Given the description of an element on the screen output the (x, y) to click on. 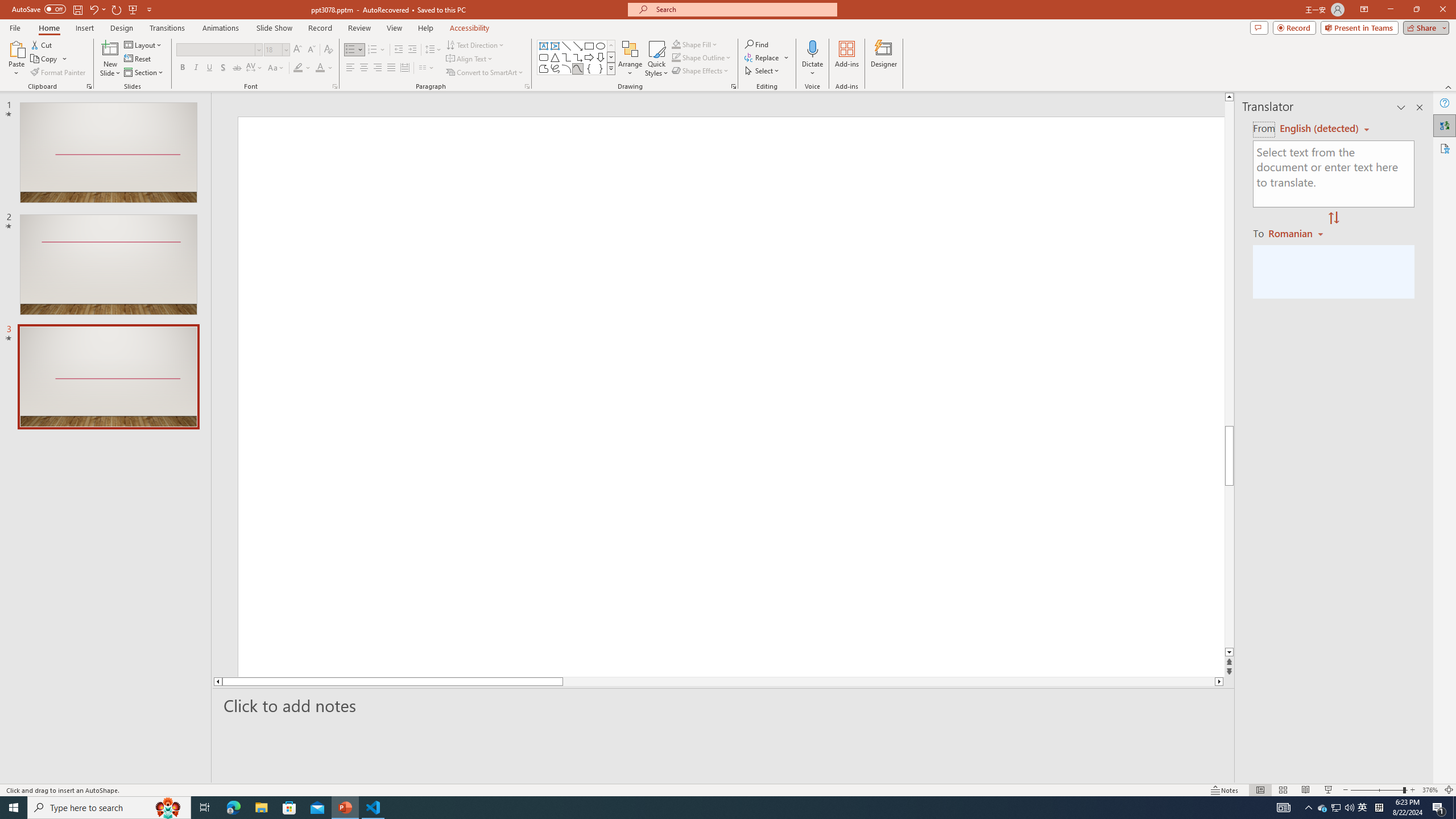
Shape Outline Green, Accent 1 (675, 56)
